Given the description of an element on the screen output the (x, y) to click on. 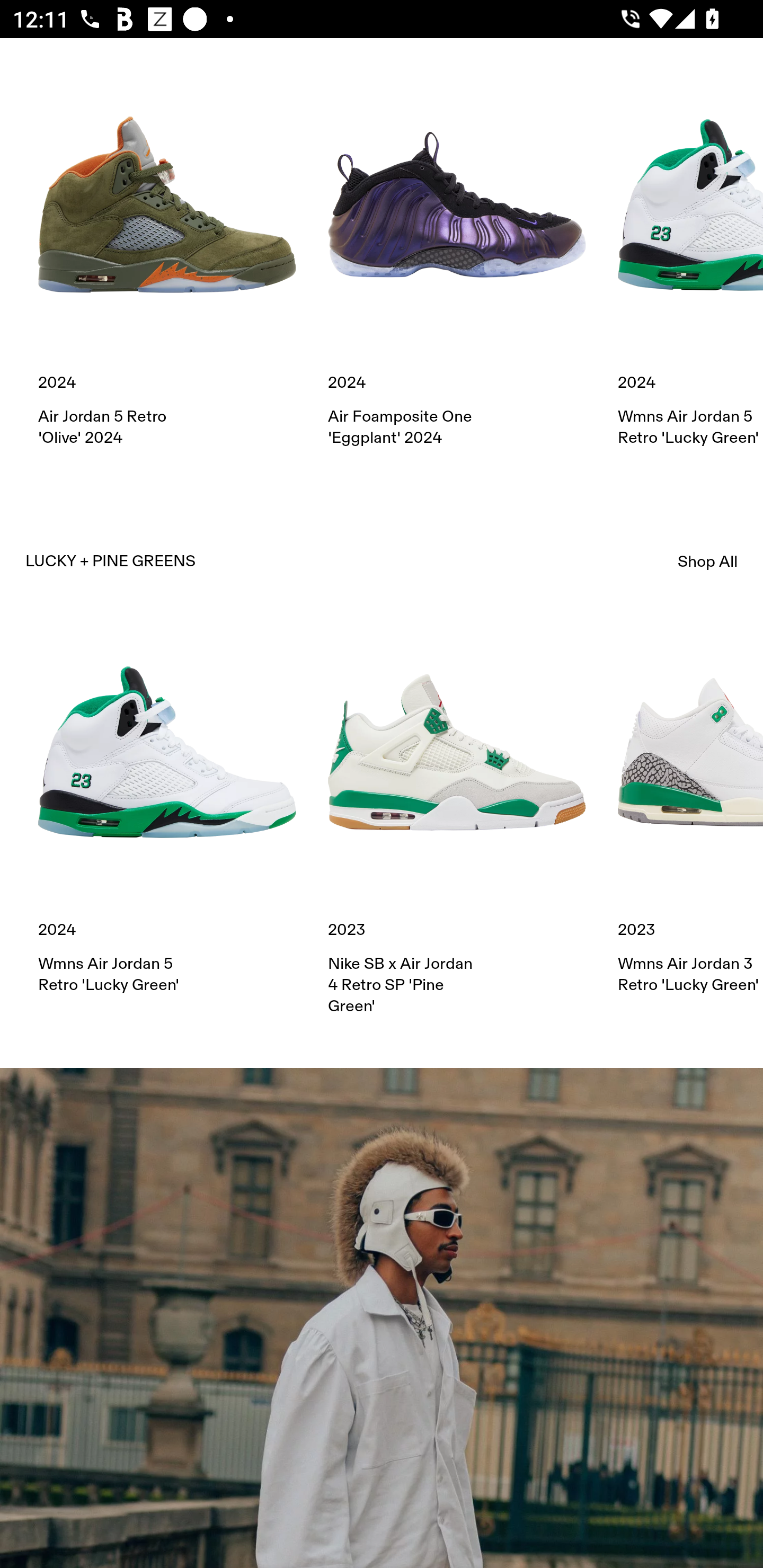
2024 Air Jordan 5 Retro 'Olive' 2024 (167, 261)
2024 Air Foamposite One 'Eggplant' 2024 (456, 261)
2024 Wmns Air Jordan 5 Retro 'Lucky Green' (690, 261)
Shop All (707, 561)
2024 Wmns Air Jordan 5 Retro 'Lucky Green' (167, 808)
2023 Nike SB x Air Jordan 4 Retro SP 'Pine Green' (456, 819)
2023 Wmns Air Jordan 3 Retro 'Lucky Green' (690, 808)
